Given the description of an element on the screen output the (x, y) to click on. 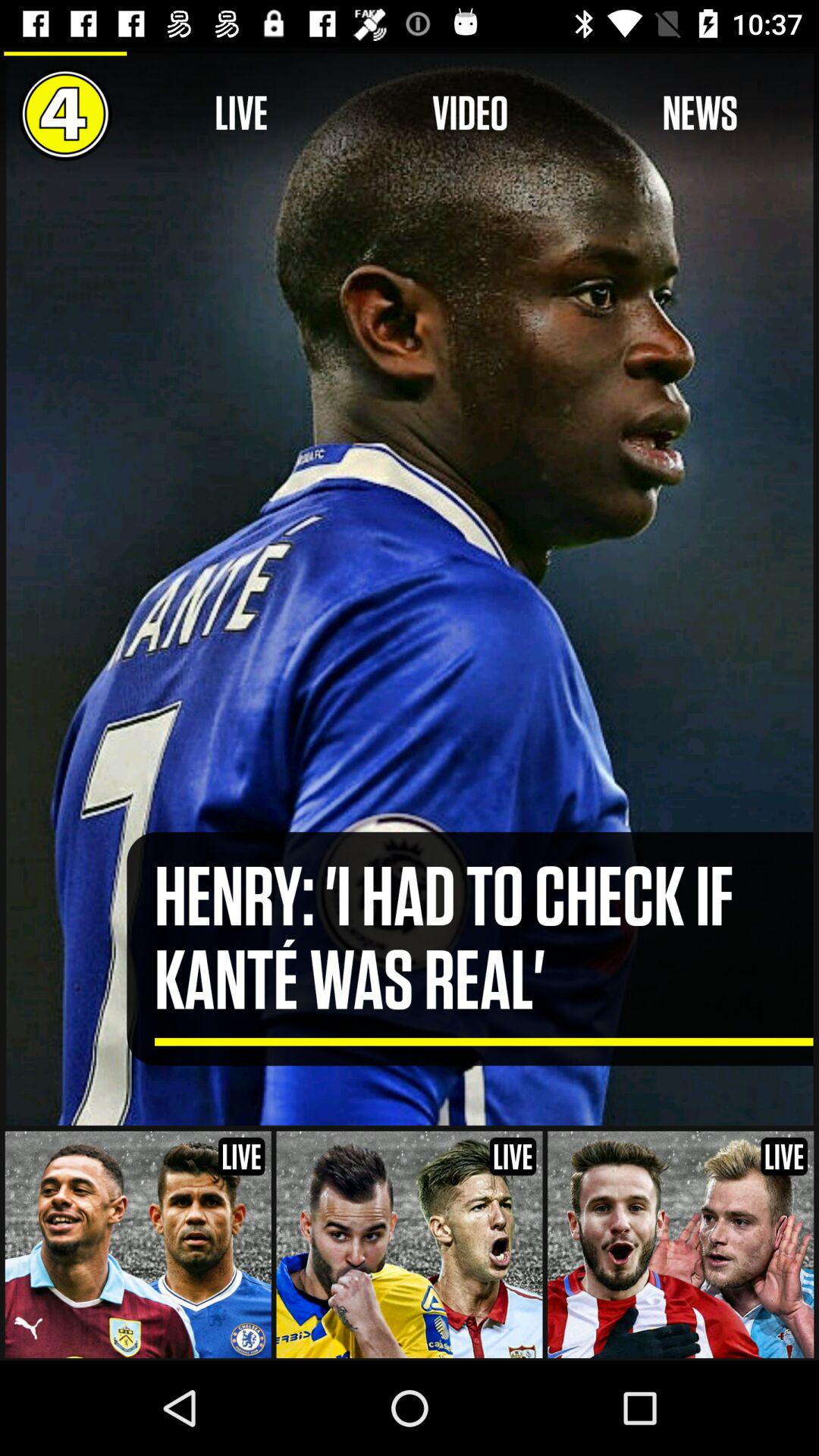
tap the item above the henry i had icon (470, 113)
